Given the description of an element on the screen output the (x, y) to click on. 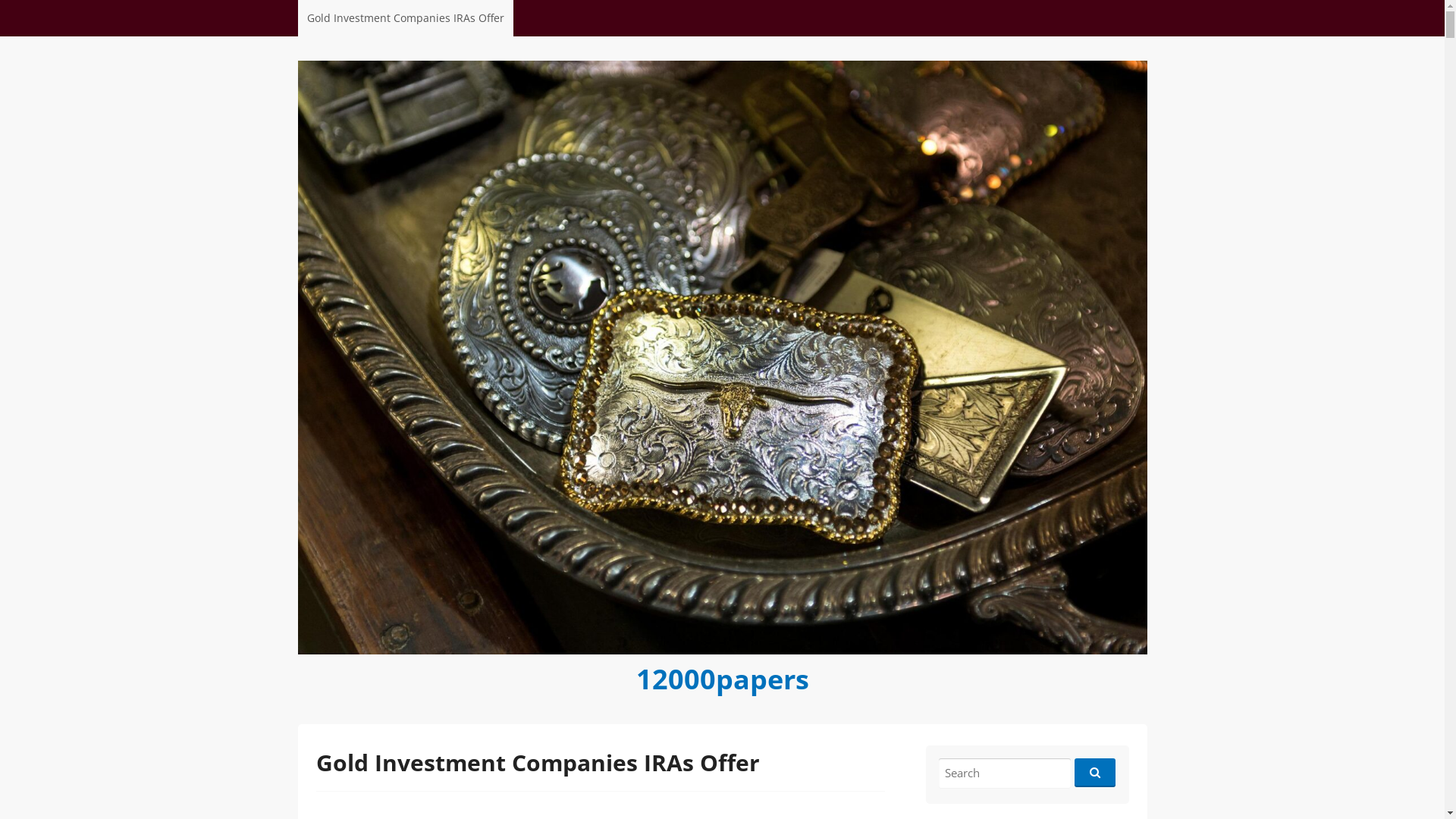
Search for: Element type: hover (1004, 772)
Gold Investment Companies IRAs Offer Element type: text (404, 18)
Skip to content Element type: text (344, 7)
12000papers Element type: text (721, 677)
